Given the description of an element on the screen output the (x, y) to click on. 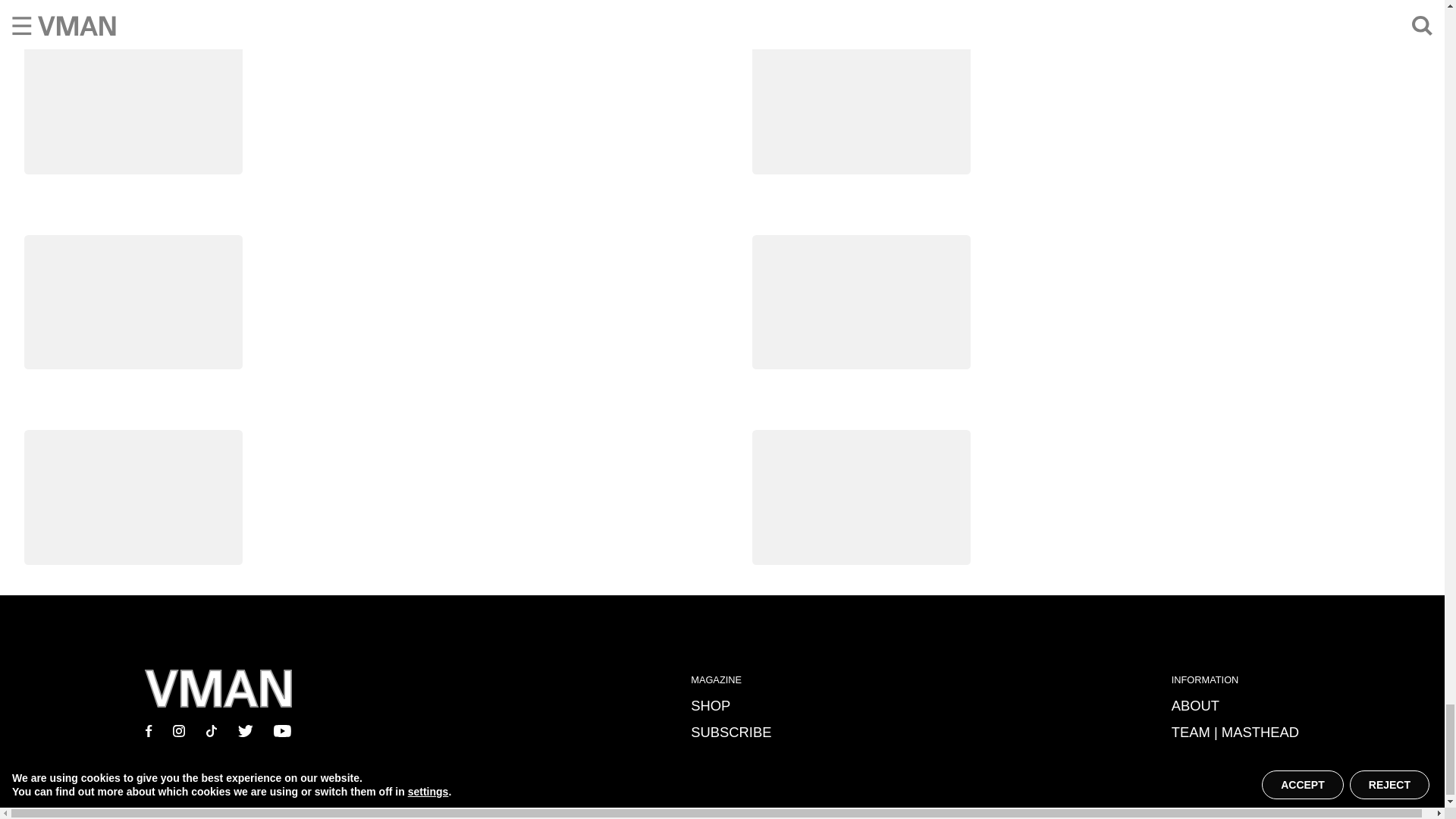
SUBSCRIBE (730, 731)
SHOP (710, 705)
ABOUT (1196, 705)
